Given the description of an element on the screen output the (x, y) to click on. 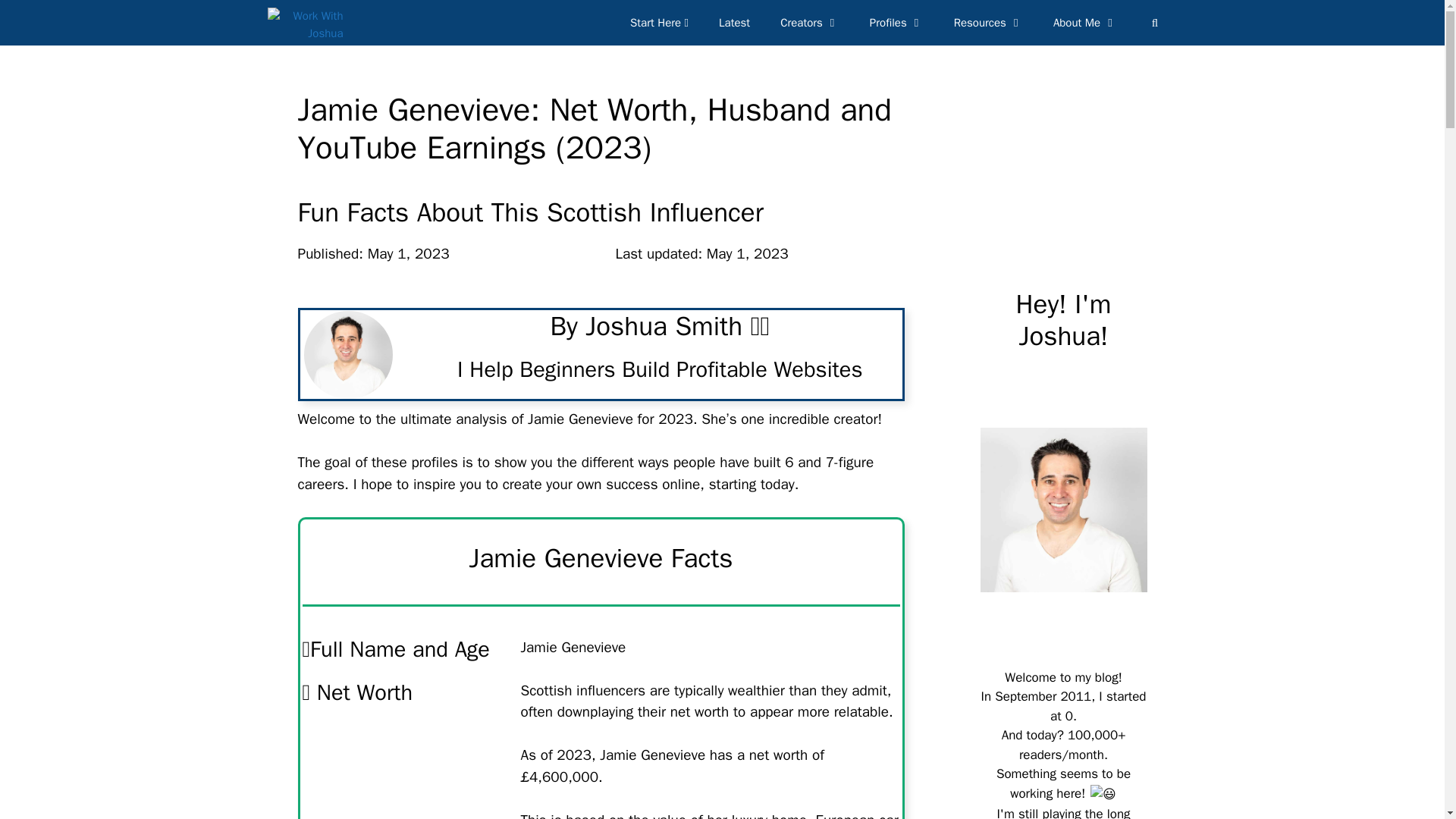
Resources (988, 22)
Work With Joshua (308, 22)
About Me (1085, 22)
Creators (809, 22)
Work With Joshua (304, 22)
Latest (734, 22)
Profiles (896, 22)
